Given the description of an element on the screen output the (x, y) to click on. 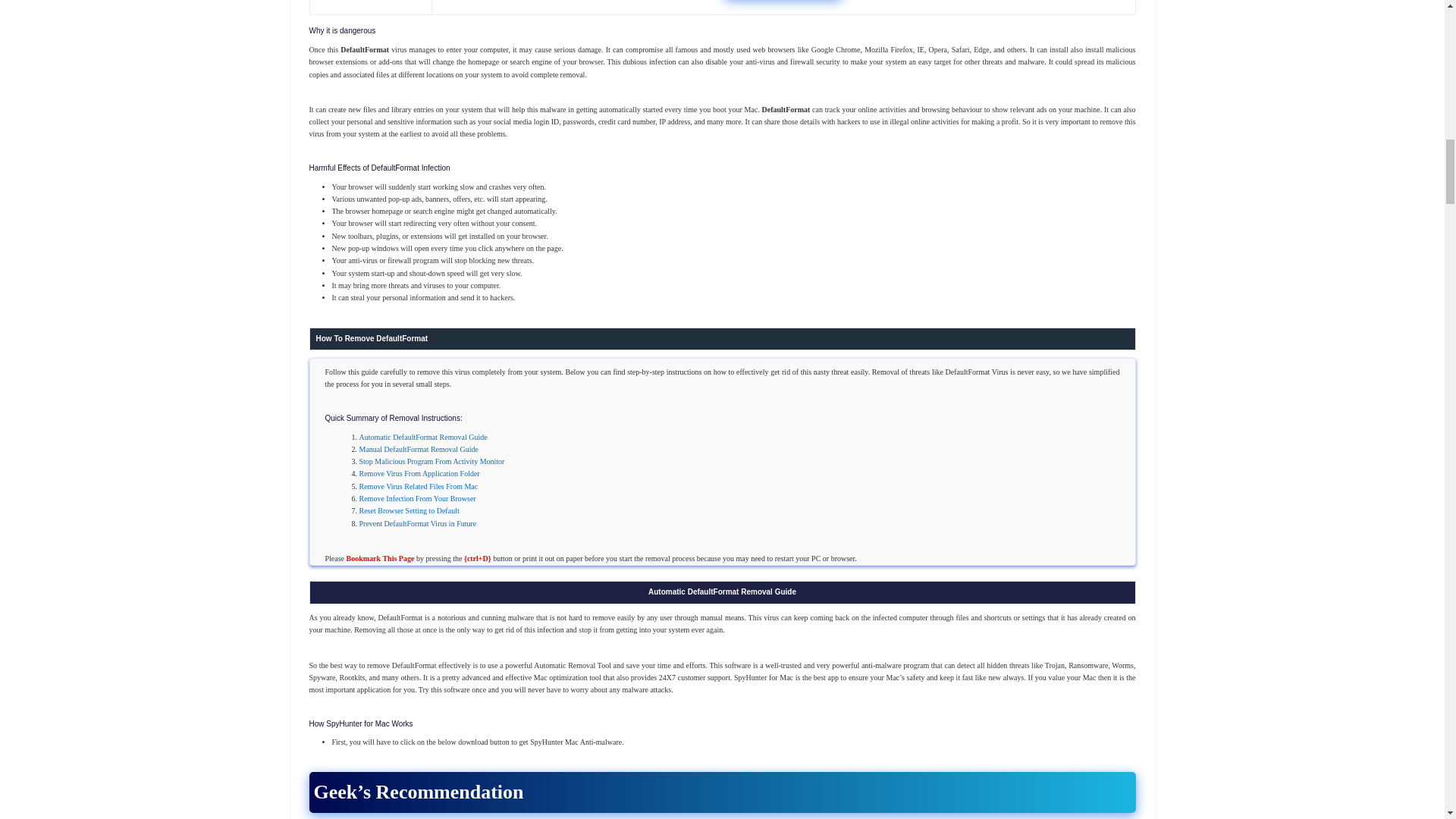
Remove Infection From Your Browser (417, 498)
Stop Malicious Program From Activity Monitor (432, 461)
Reset Browser Setting to Default (409, 510)
Remove Virus Related Files From Mac (419, 486)
Automatic DefaultFormat Removal Guide (423, 437)
Remove Virus From Application Folder (419, 473)
Prevent DefaultFormat Virus in Future (418, 523)
Manual DefaultFormat Removal Guide (419, 449)
